Given the description of an element on the screen output the (x, y) to click on. 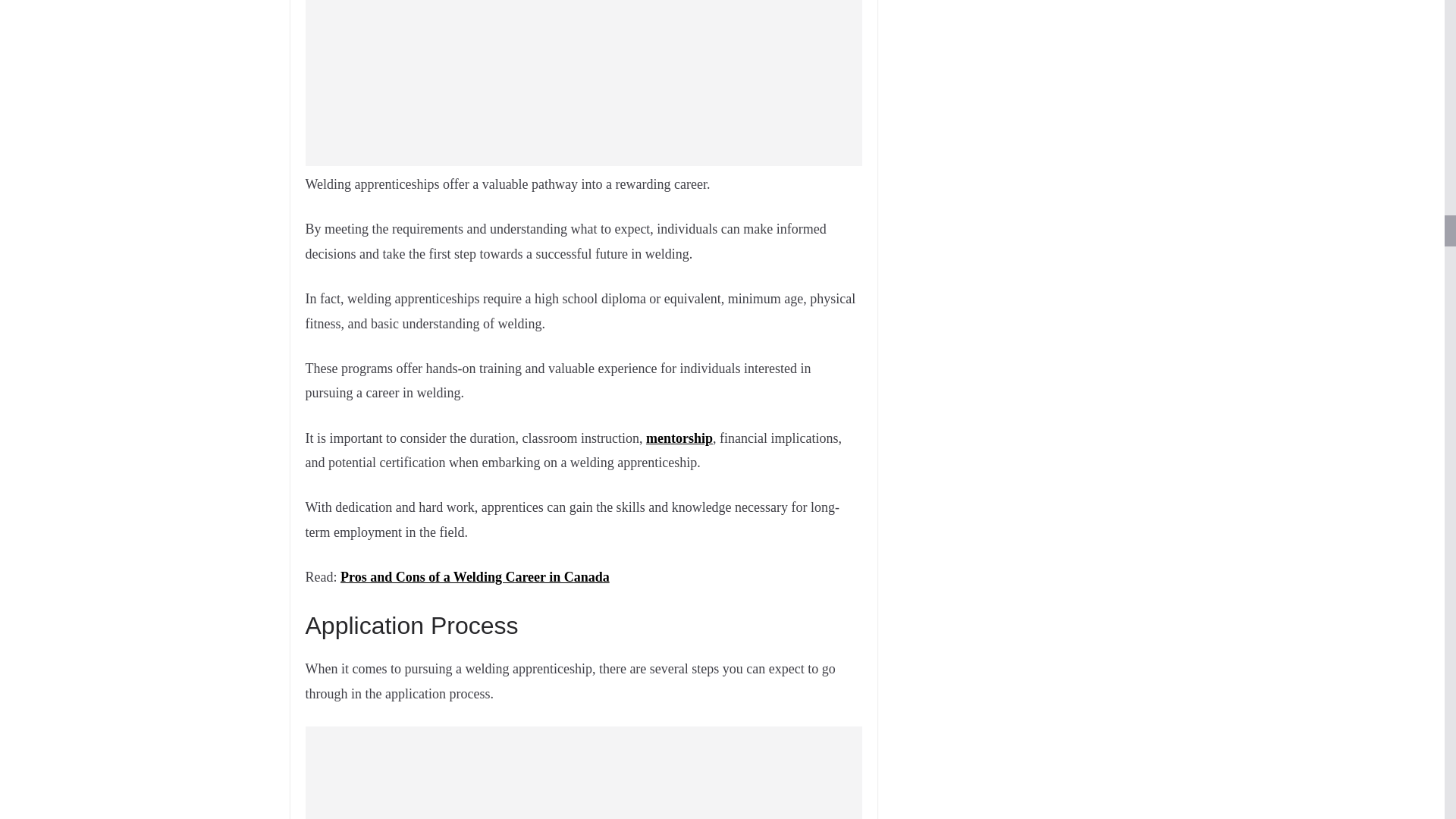
Pros and Cons of a Welding Career in Canada (475, 576)
mentorship (679, 437)
